Given the description of an element on the screen output the (x, y) to click on. 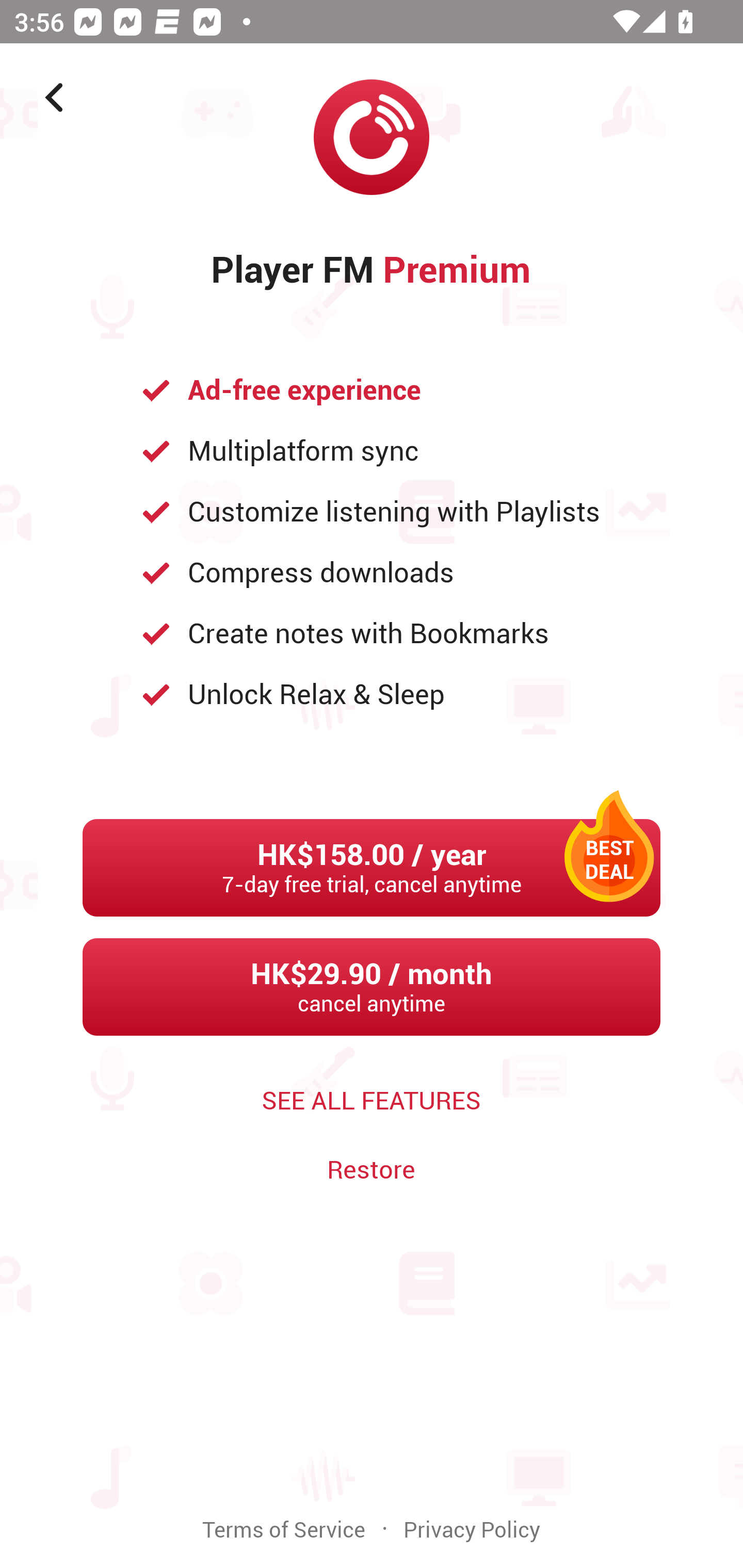
Upgrade HK$29.90 / month cancel anytime (371, 986)
SEE ALL FEATURES (371, 1101)
Restore (370, 1170)
Terms of Service (283, 1530)
Privacy Policy (471, 1530)
